Given the description of an element on the screen output the (x, y) to click on. 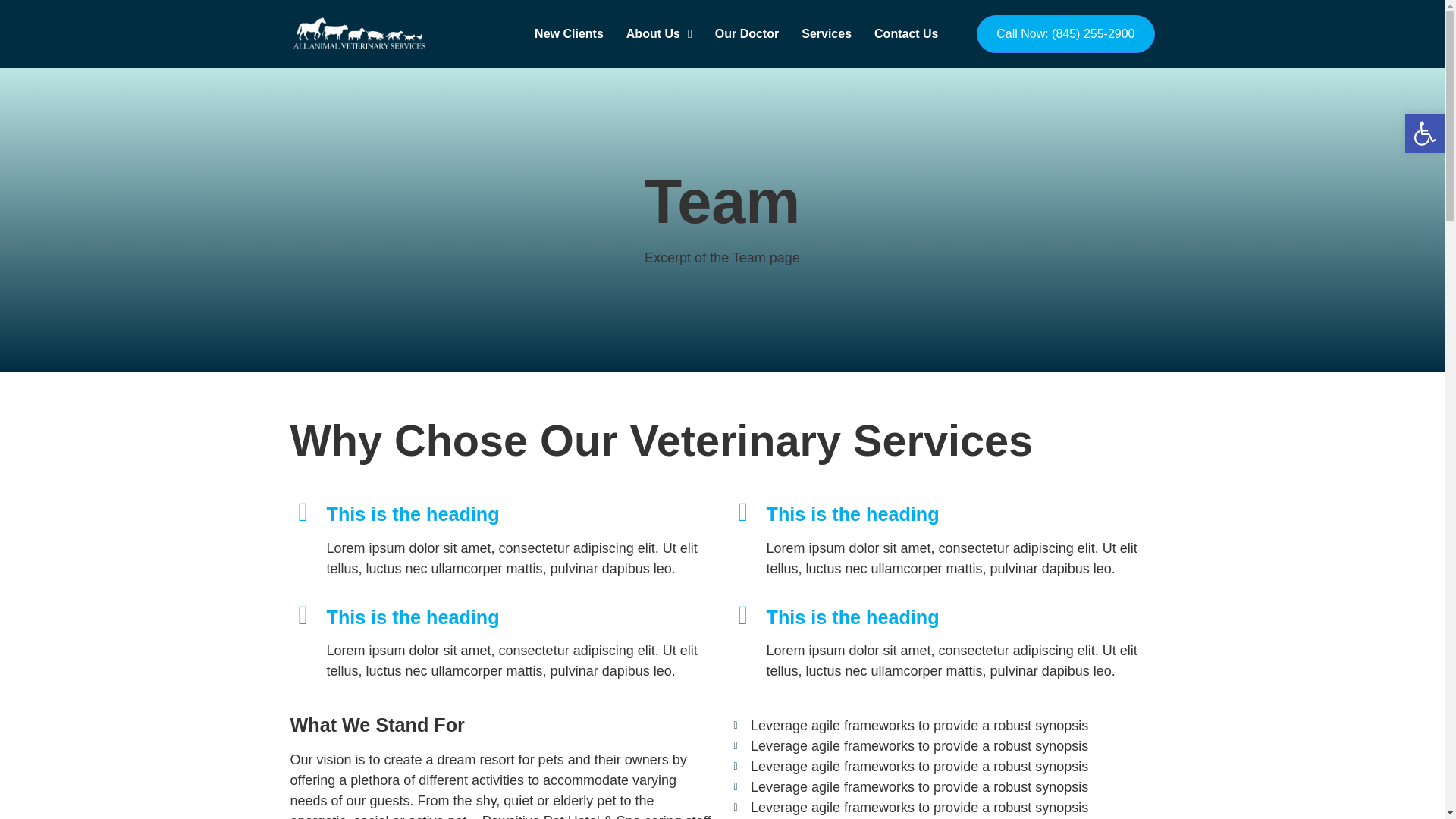
Contact Us (906, 34)
Services (826, 34)
Our Doctor (746, 34)
About Us (659, 34)
New Clients (569, 34)
Accessibility Tools (1424, 133)
